Given the description of an element on the screen output the (x, y) to click on. 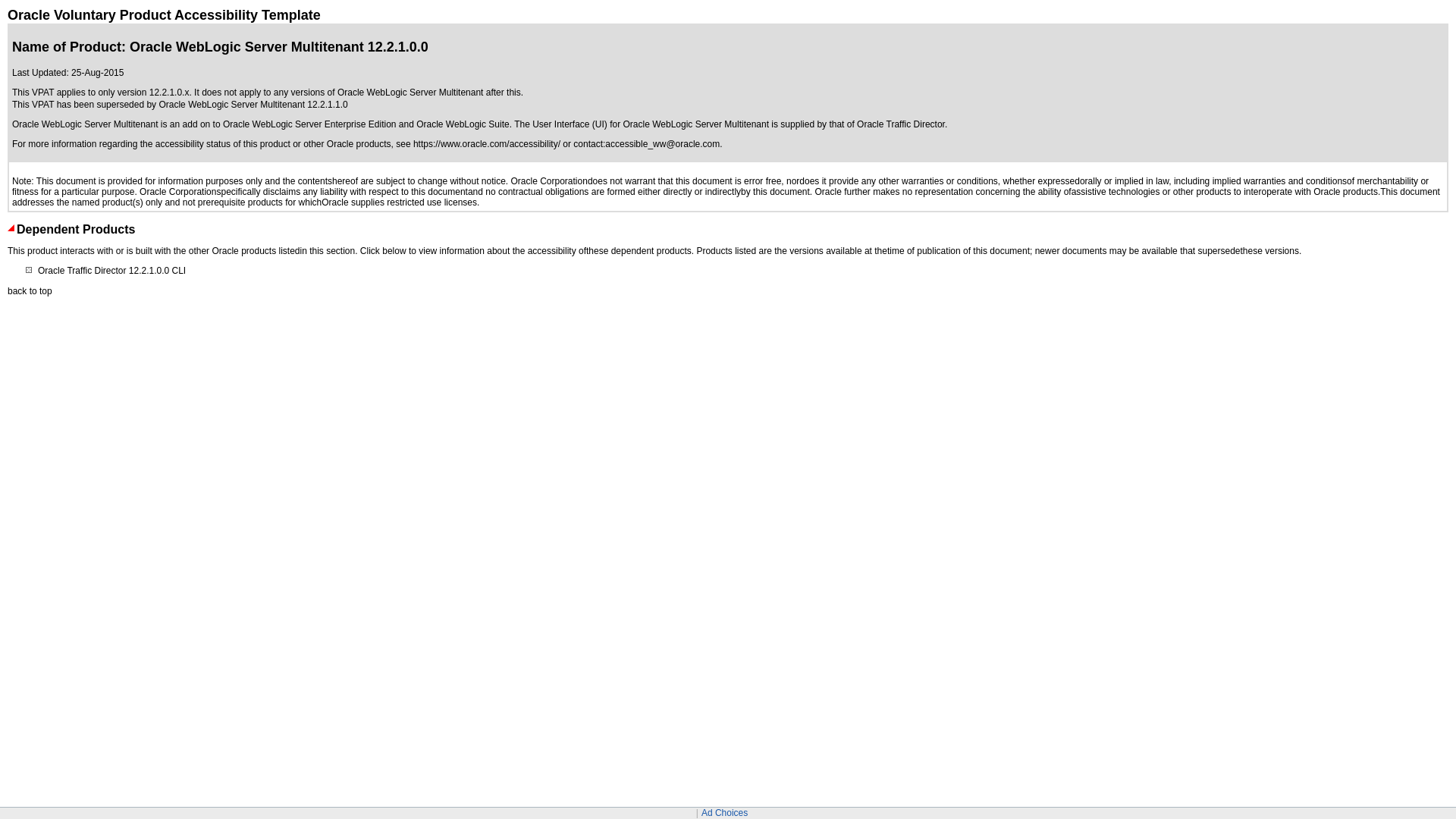
Oracle Traffic Director 12.2.1.0.0 CLI (111, 270)
back to top (29, 290)
Oracle WebLogic Server Multitenant 12.2.1.1.0 (252, 104)
